Given the description of an element on the screen output the (x, y) to click on. 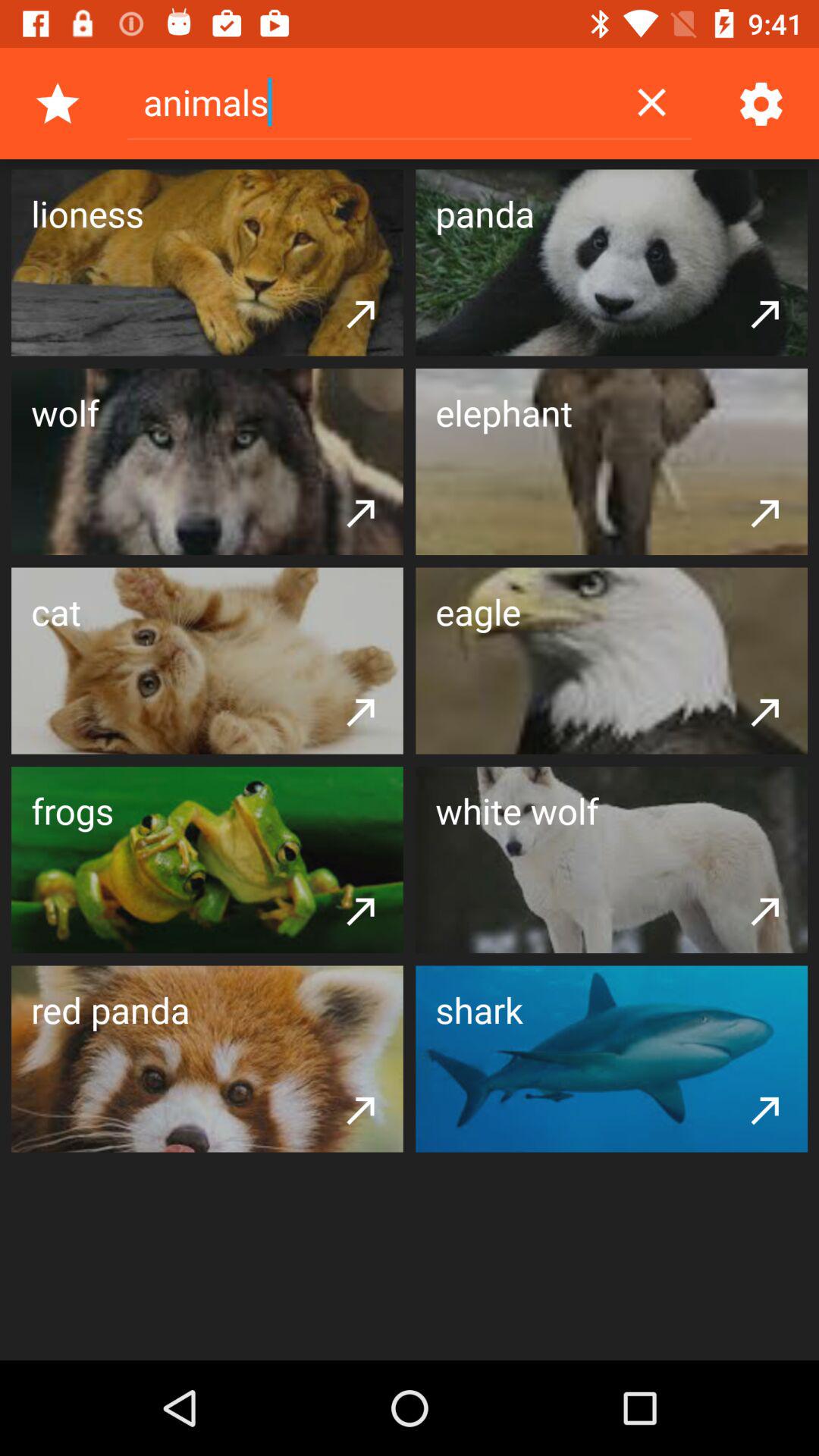
tap the icon below the red panda (361, 1109)
